Given the description of an element on the screen output the (x, y) to click on. 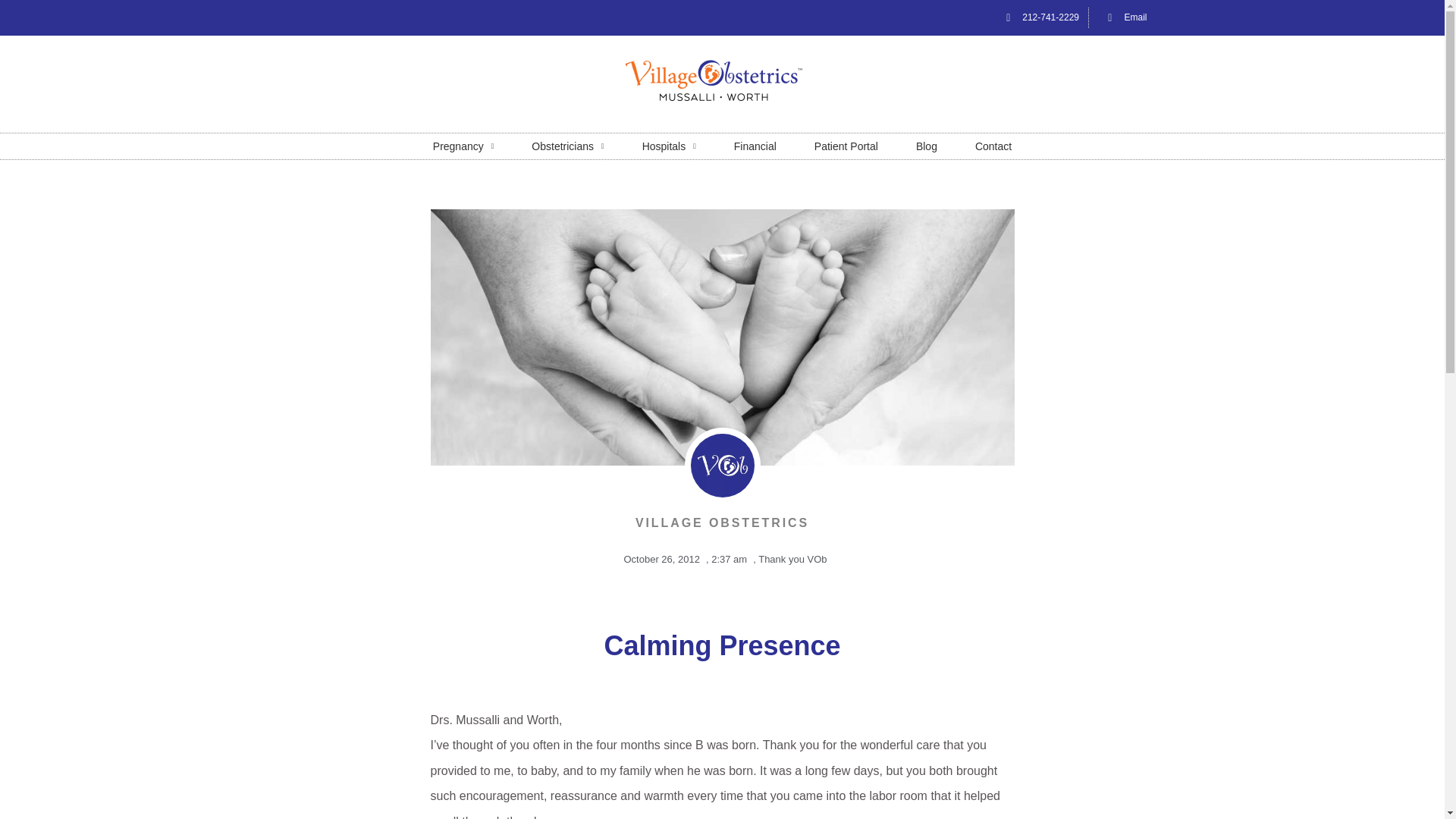
Pregnancy (463, 145)
Blog (926, 145)
Obstetricians (567, 145)
Email (1123, 17)
Village Obstetrics, Drs. Mussalli and Worth, Manhattan, NYC (721, 80)
Thank you VOb (792, 559)
Hospitals (668, 145)
Financial (754, 145)
Contact (993, 145)
